Given the description of an element on the screen output the (x, y) to click on. 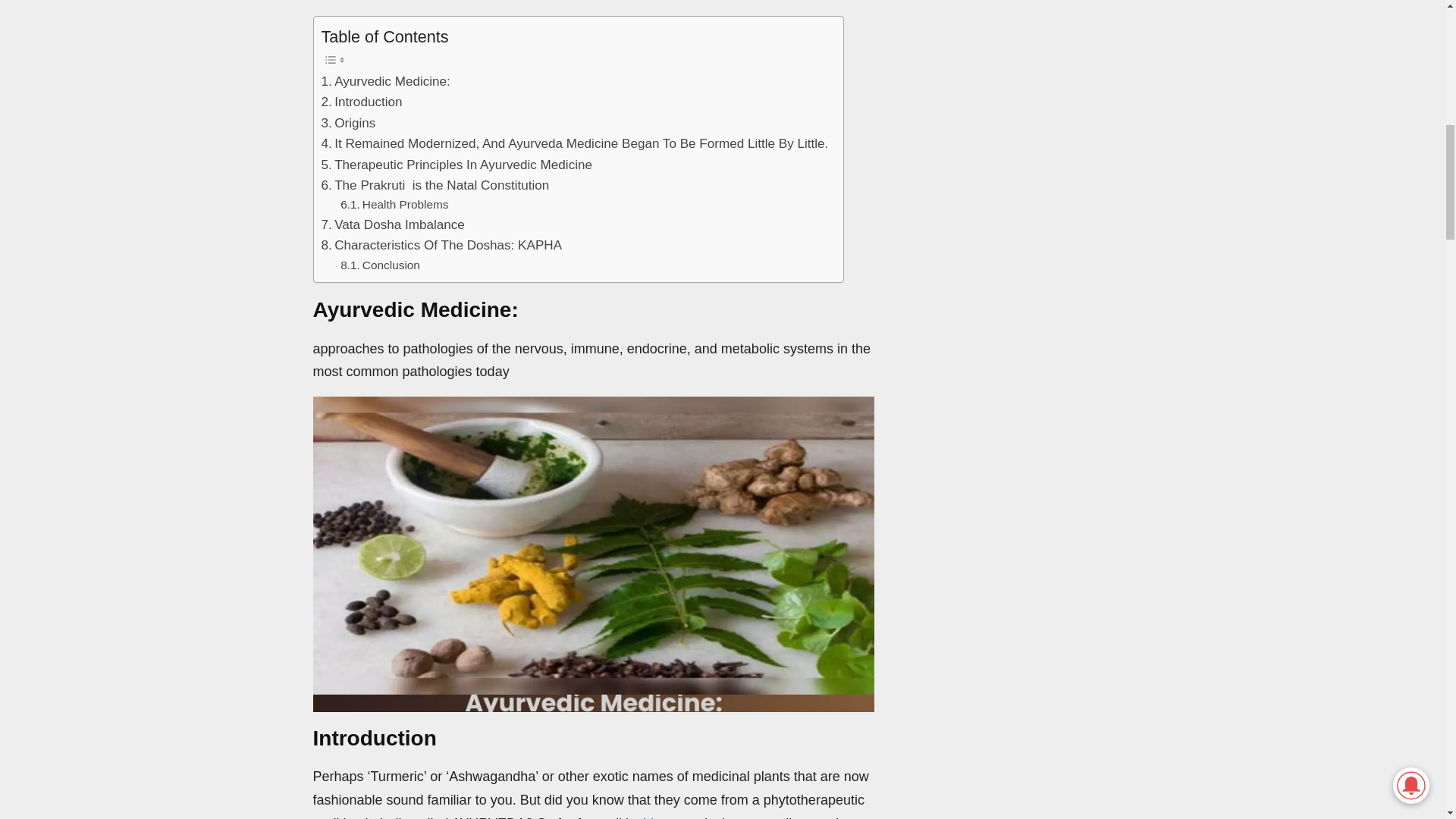
Health Problems (394, 204)
The Prakruti  is the Natal Constitution (435, 185)
Introduction (362, 101)
Introduction (362, 101)
Ayurvedic Medicine: (385, 81)
Ayurvedic Medicine: (385, 81)
Therapeutic Principles In Ayurvedic Medicine (456, 164)
Health Problems (394, 204)
Conclusion (380, 265)
Origins (348, 123)
Conclusion (380, 265)
Vata Dosha Imbalance (392, 224)
Origins (348, 123)
